Given the description of an element on the screen output the (x, y) to click on. 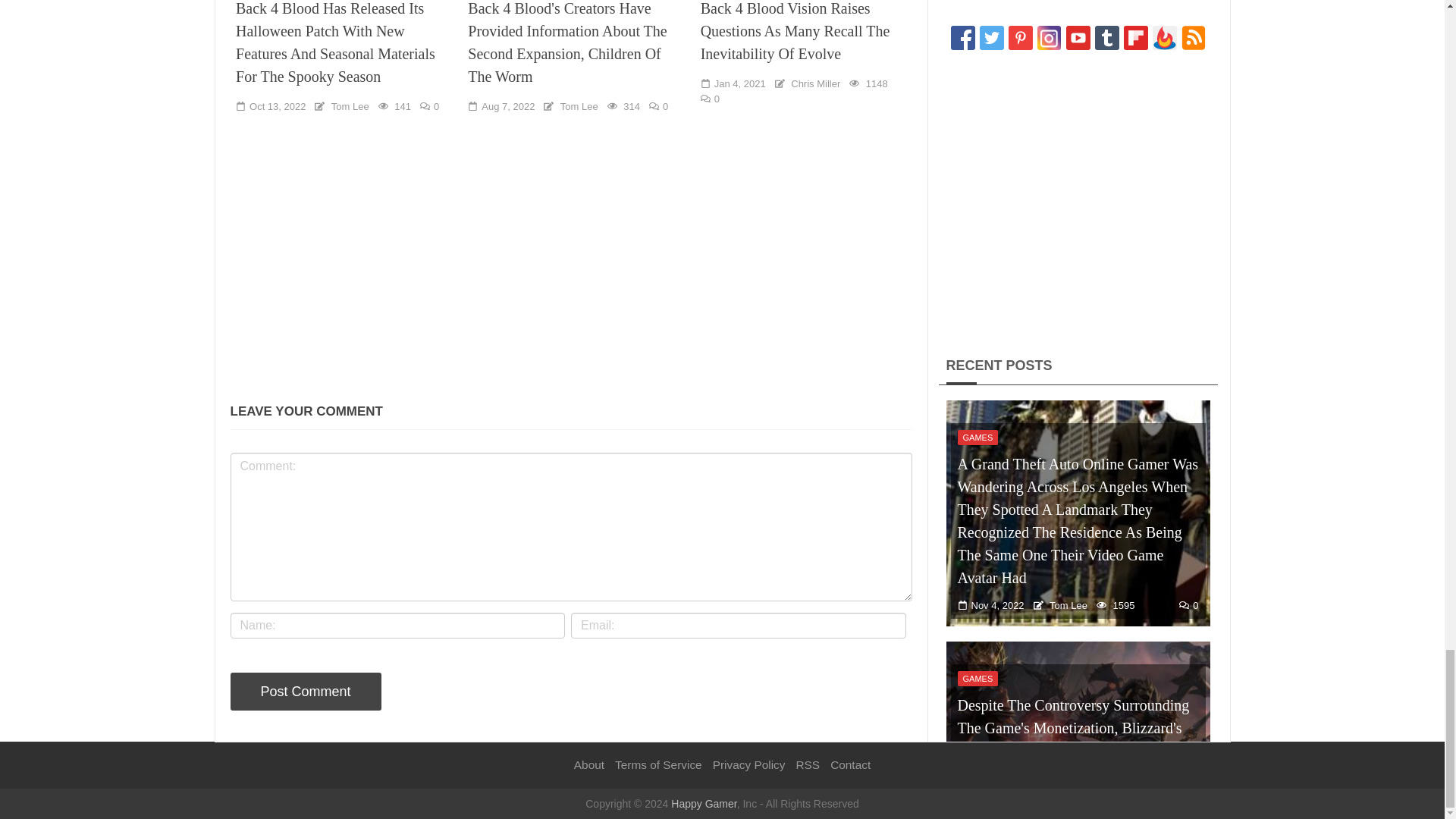
Post Comment (305, 691)
